Given the description of an element on the screen output the (x, y) to click on. 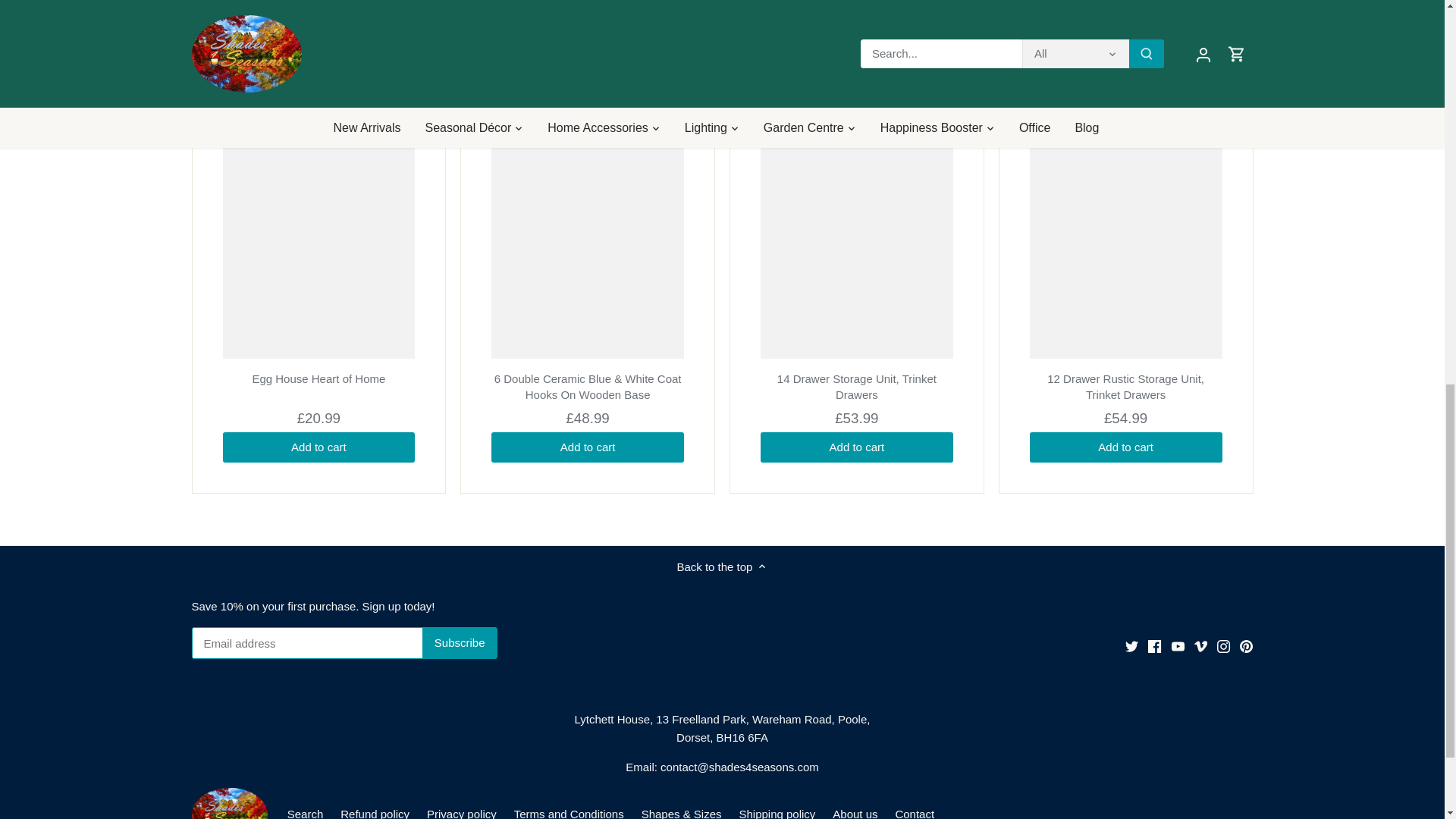
Vimeo (1200, 645)
Subscribe (459, 643)
Facebook (1154, 645)
Youtube (1178, 645)
Twitter (1131, 645)
